Given the description of an element on the screen output the (x, y) to click on. 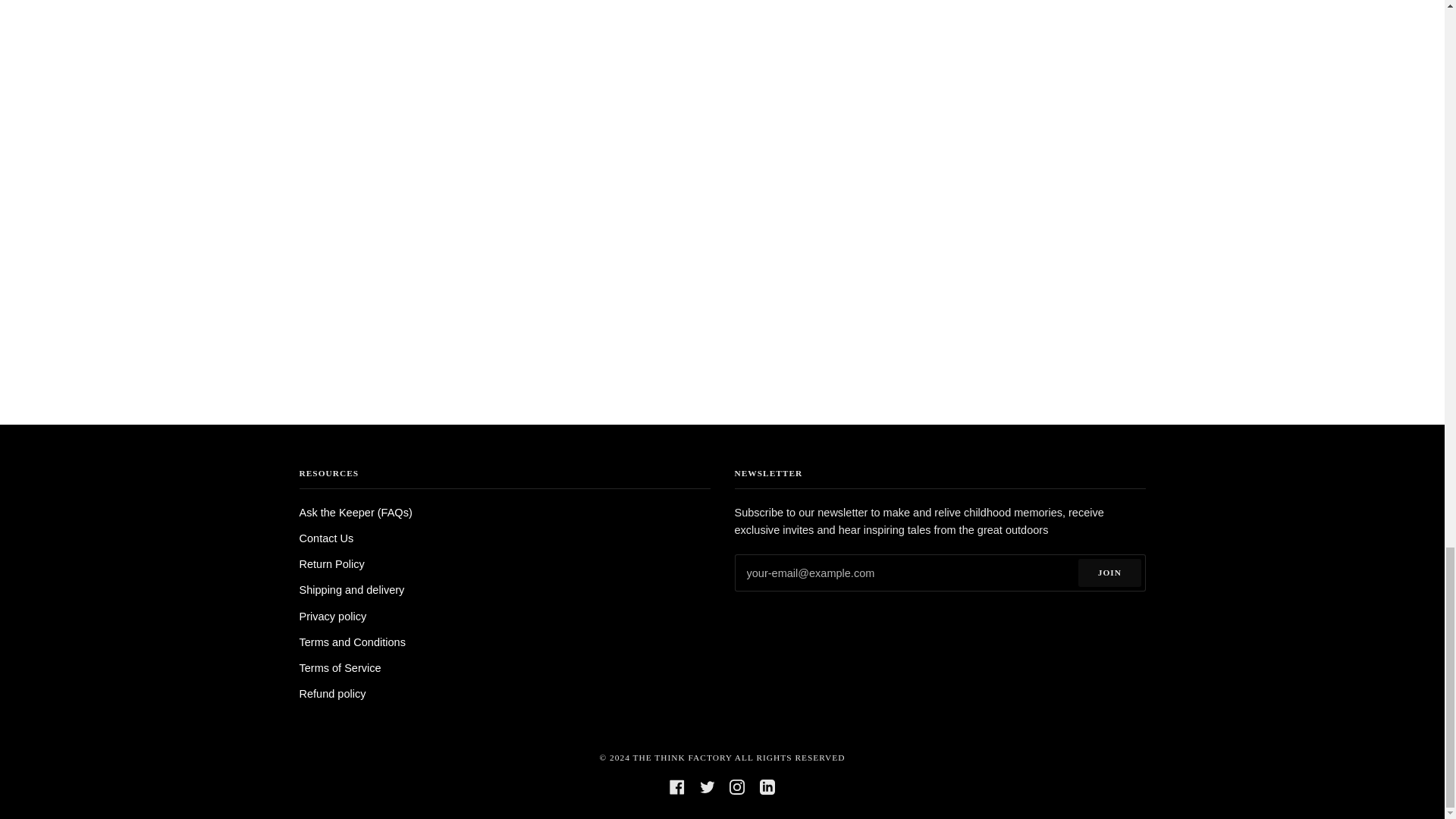
Facebook (676, 786)
Instagram (736, 786)
Twitter (707, 786)
Linkedin (767, 786)
